Given the description of an element on the screen output the (x, y) to click on. 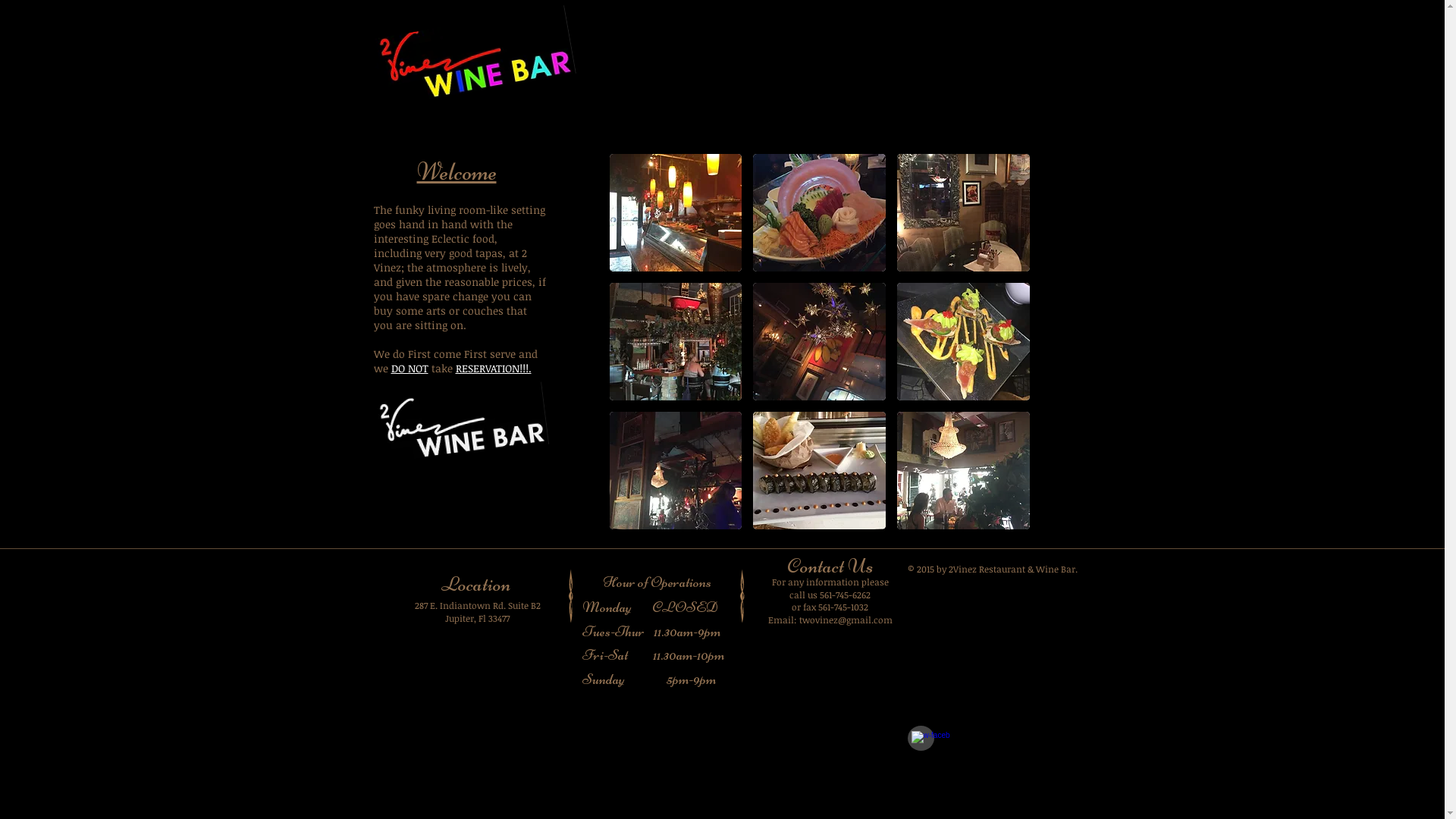
twovinez@gmail.com Element type: text (845, 619)
